Given the description of an element on the screen output the (x, y) to click on. 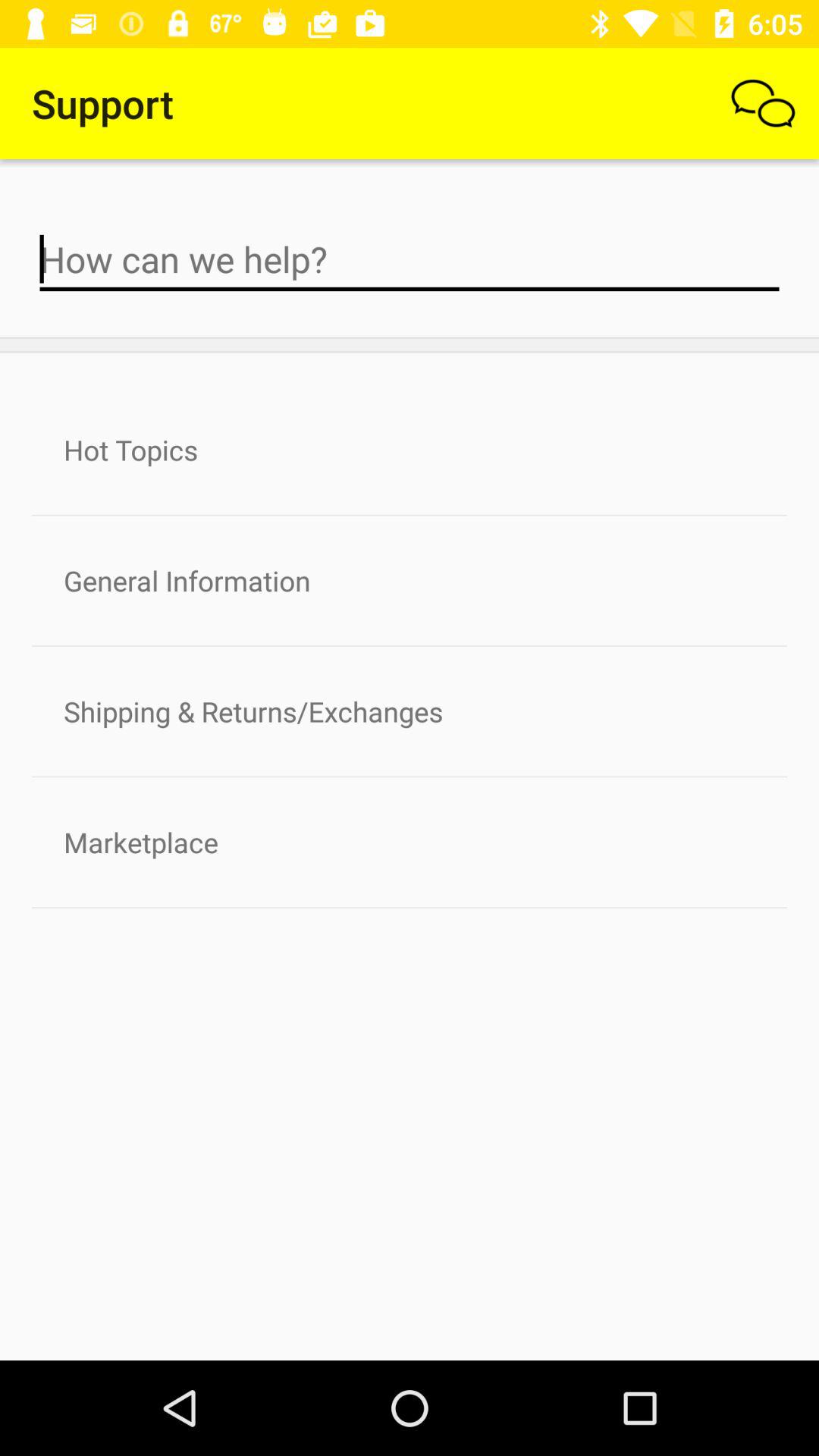
scroll to general information (409, 580)
